Given the description of an element on the screen output the (x, y) to click on. 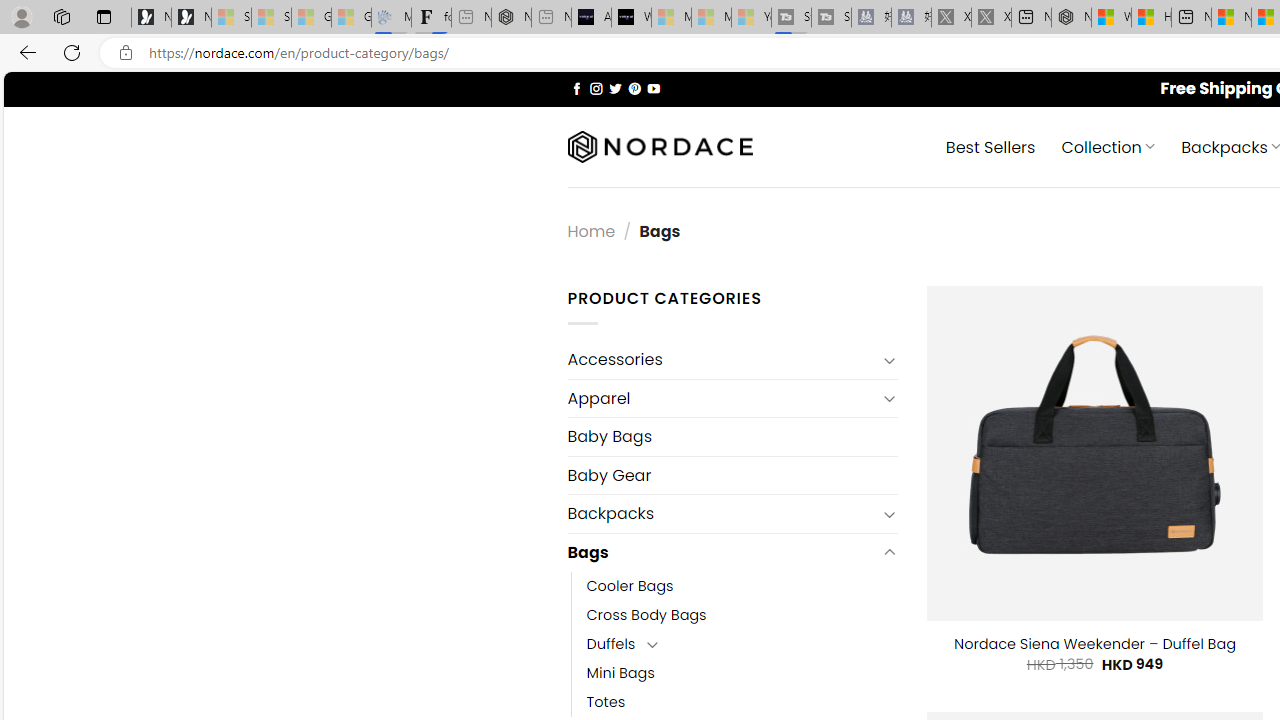
AI Voice Changer for PC and Mac - Voice.ai (591, 17)
  Best Sellers (989, 146)
Totes (605, 701)
Baby Bags (732, 436)
Baby Gear (732, 475)
 Best Sellers (989, 146)
Microsoft Start Sports - Sleeping (671, 17)
Follow on Pinterest (634, 88)
Streaming Coverage | T3 - Sleeping (791, 17)
